Given the description of an element on the screen output the (x, y) to click on. 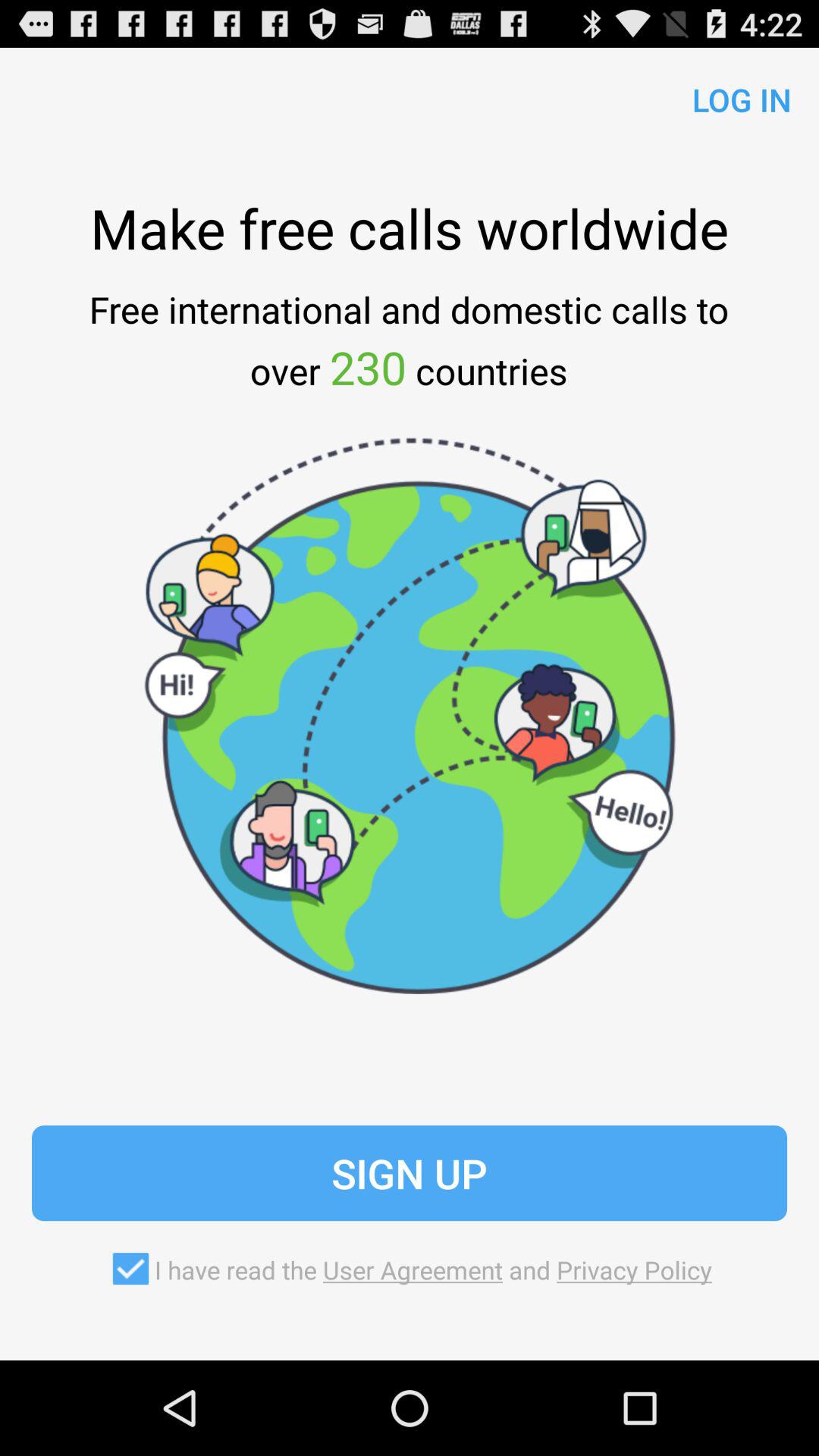
scroll to the i have read icon (409, 1268)
